Given the description of an element on the screen output the (x, y) to click on. 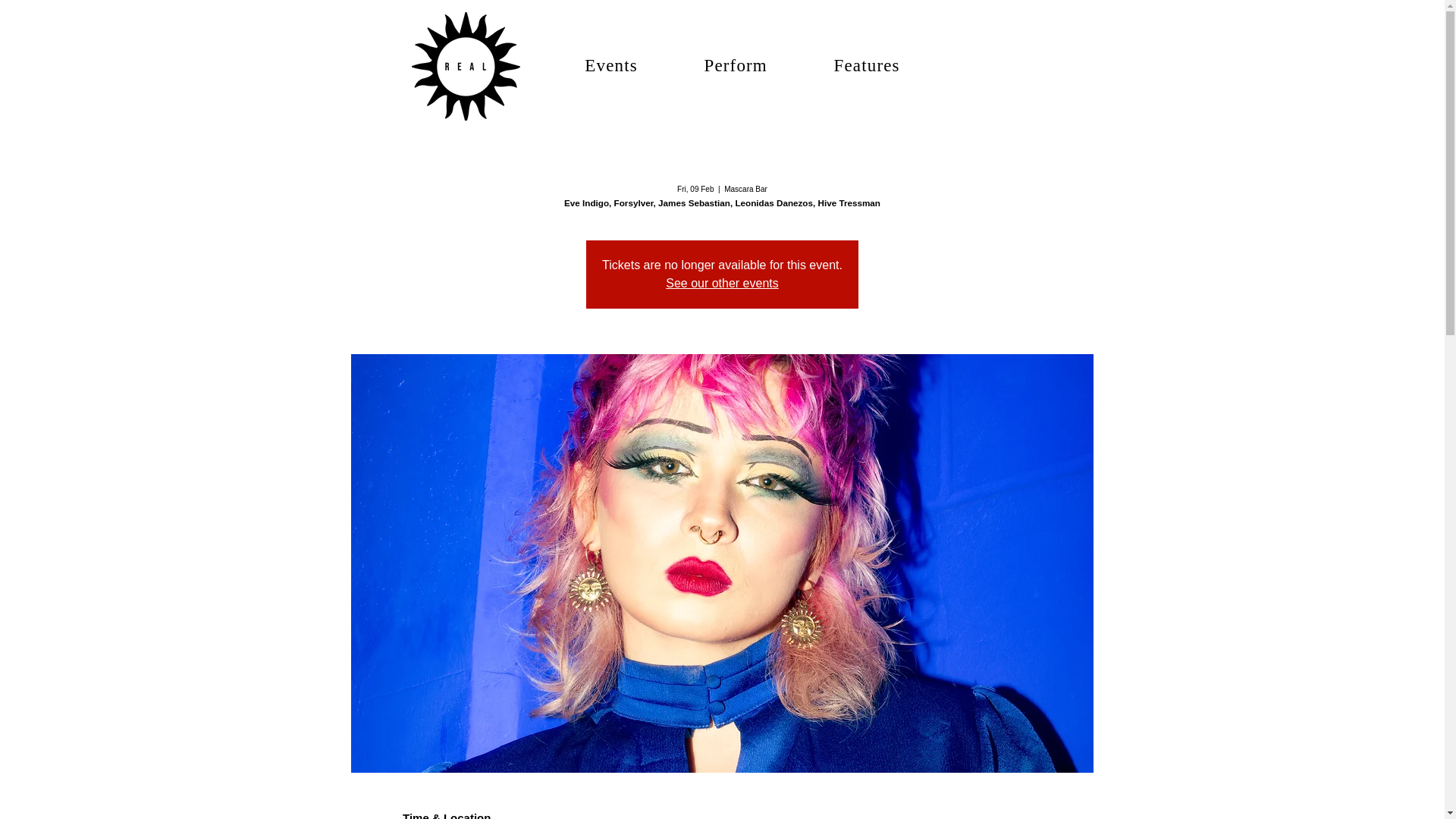
See our other events (721, 282)
Events (611, 65)
Features (866, 65)
Perform (735, 65)
